Given the description of an element on the screen output the (x, y) to click on. 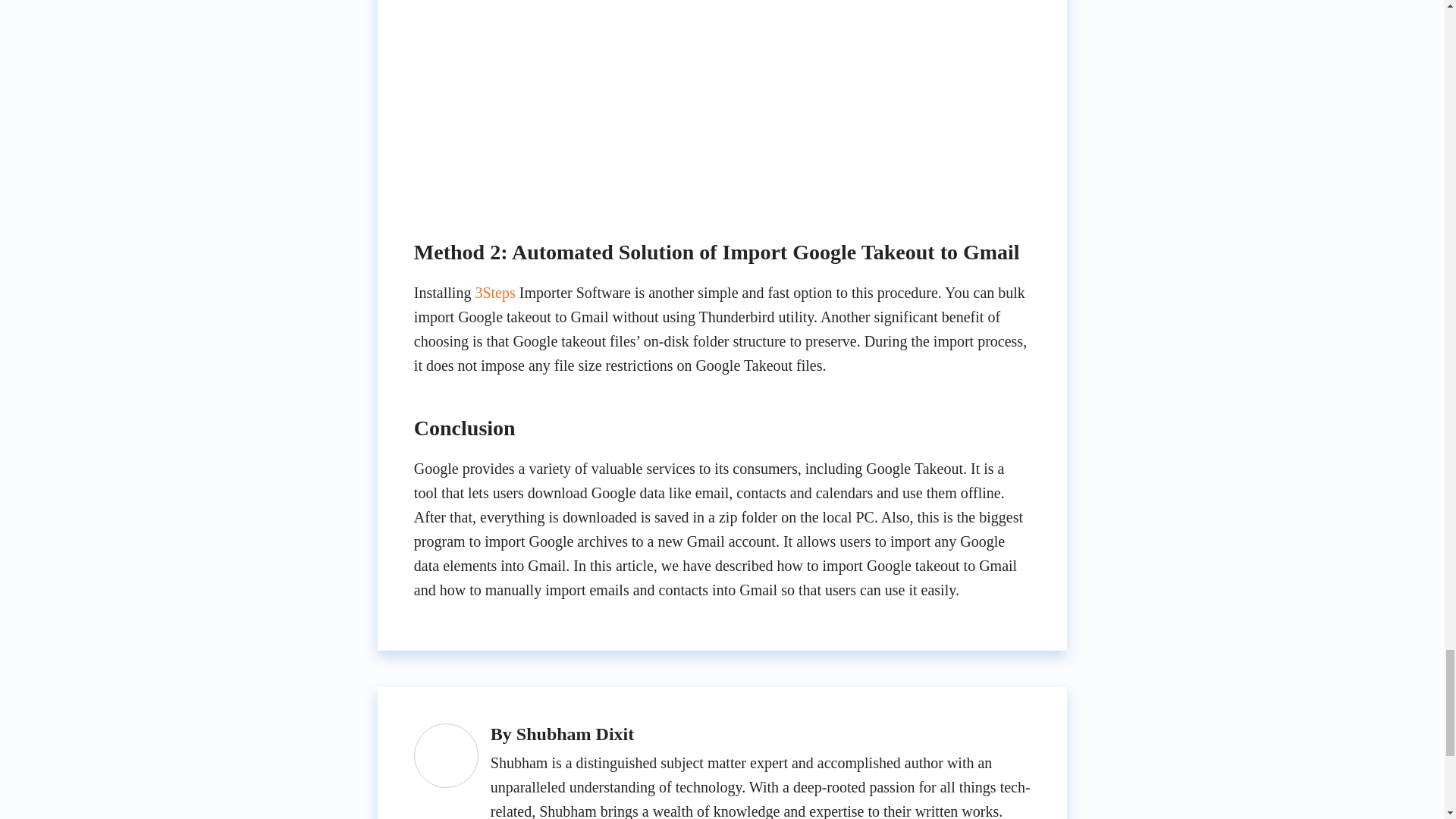
3Steps (494, 292)
